Given the description of an element on the screen output the (x, y) to click on. 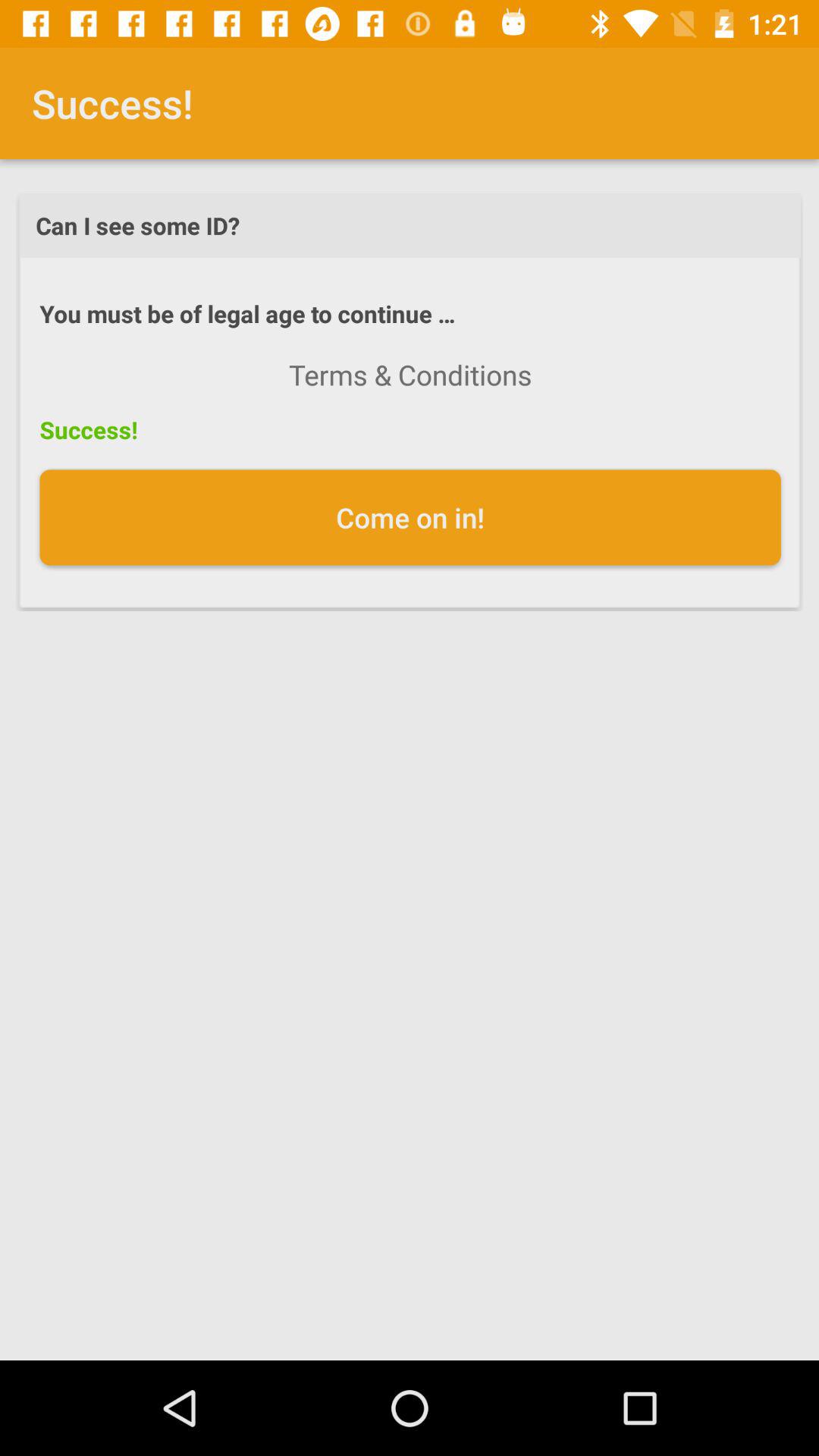
press the item at the center (409, 517)
